Given the description of an element on the screen output the (x, y) to click on. 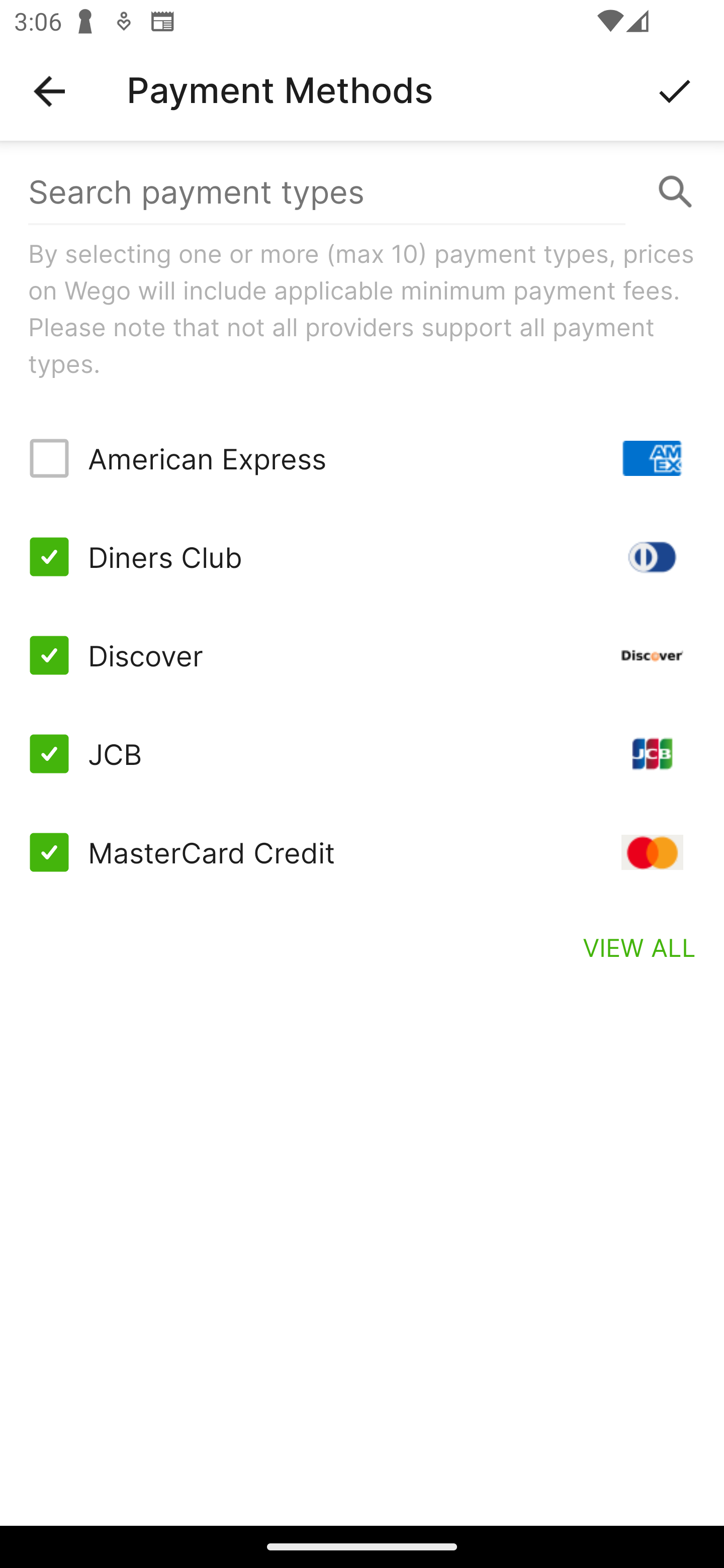
Search payment types  (361, 191)
American Express (362, 458)
Diners Club (362, 557)
Discover (362, 655)
JCB (362, 753)
MasterCard Credit (362, 851)
VIEW ALL (639, 946)
